Given the description of an element on the screen output the (x, y) to click on. 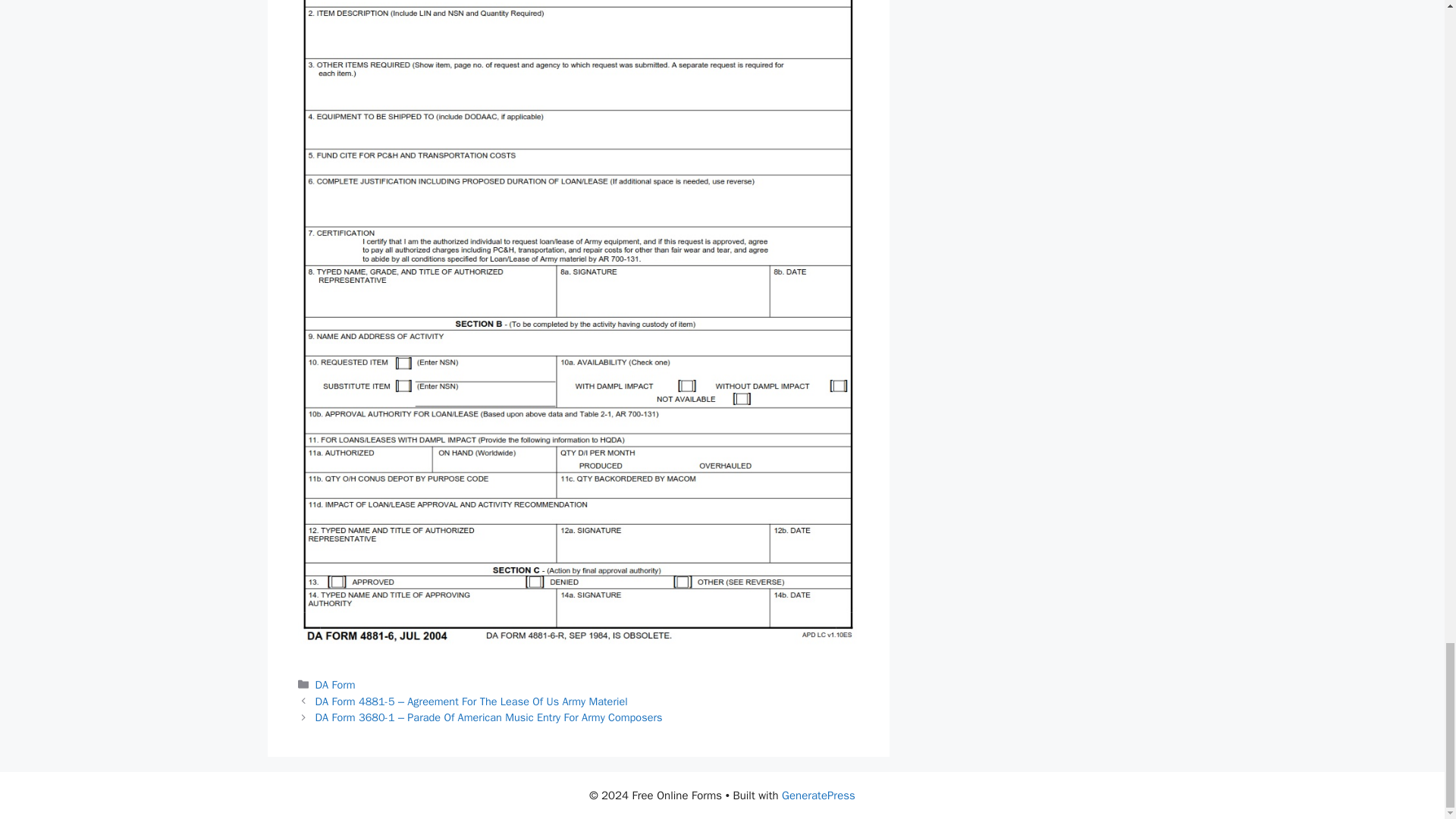
GeneratePress (818, 795)
DA Form (335, 684)
